Given the description of an element on the screen output the (x, y) to click on. 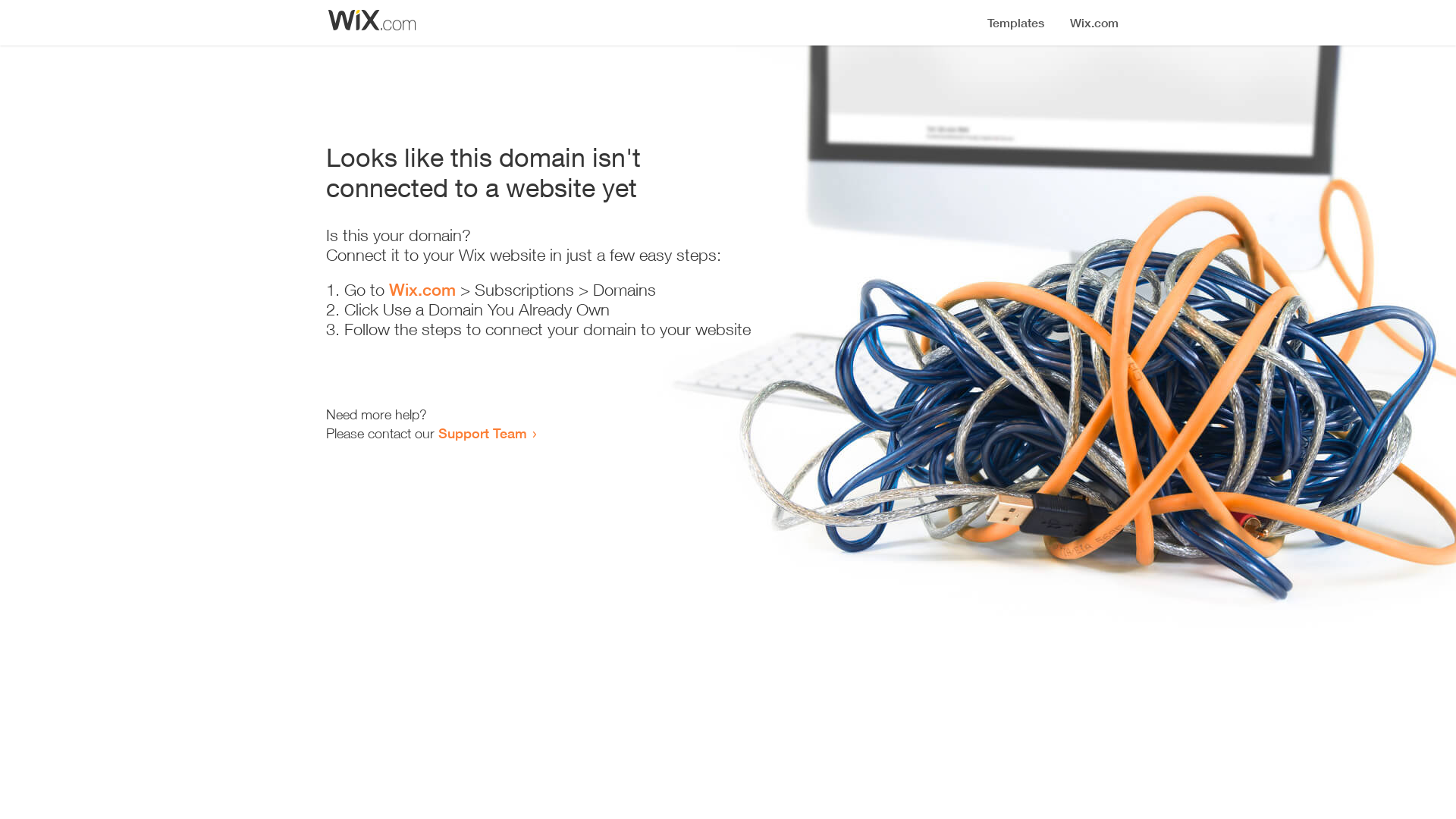
Wix.com Element type: text (422, 289)
Support Team Element type: text (482, 432)
